Given the description of an element on the screen output the (x, y) to click on. 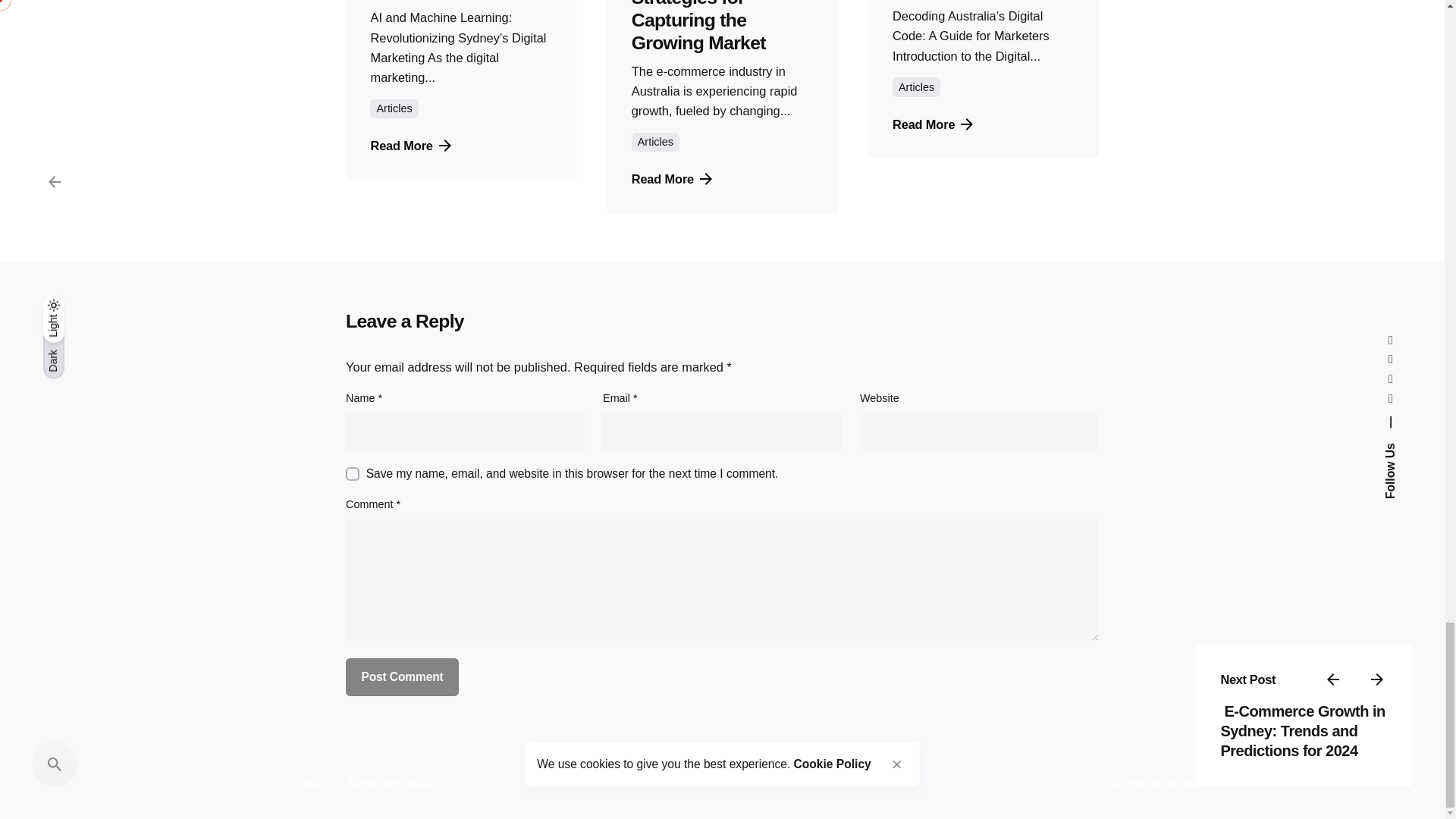
Post Comment (402, 677)
yes (352, 473)
